Given the description of an element on the screen output the (x, y) to click on. 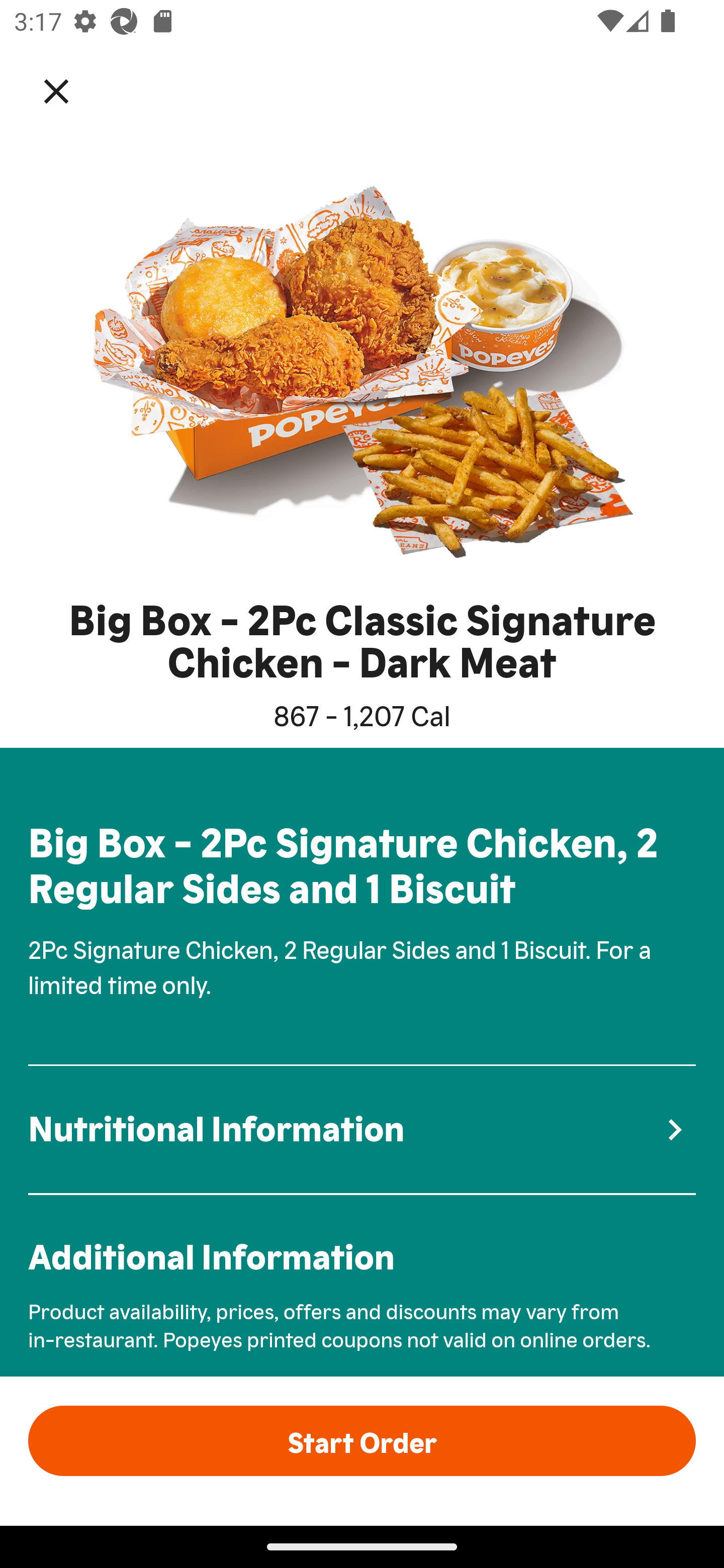
 (70, 90)
Start Order (361, 1439)
